Given the description of an element on the screen output the (x, y) to click on. 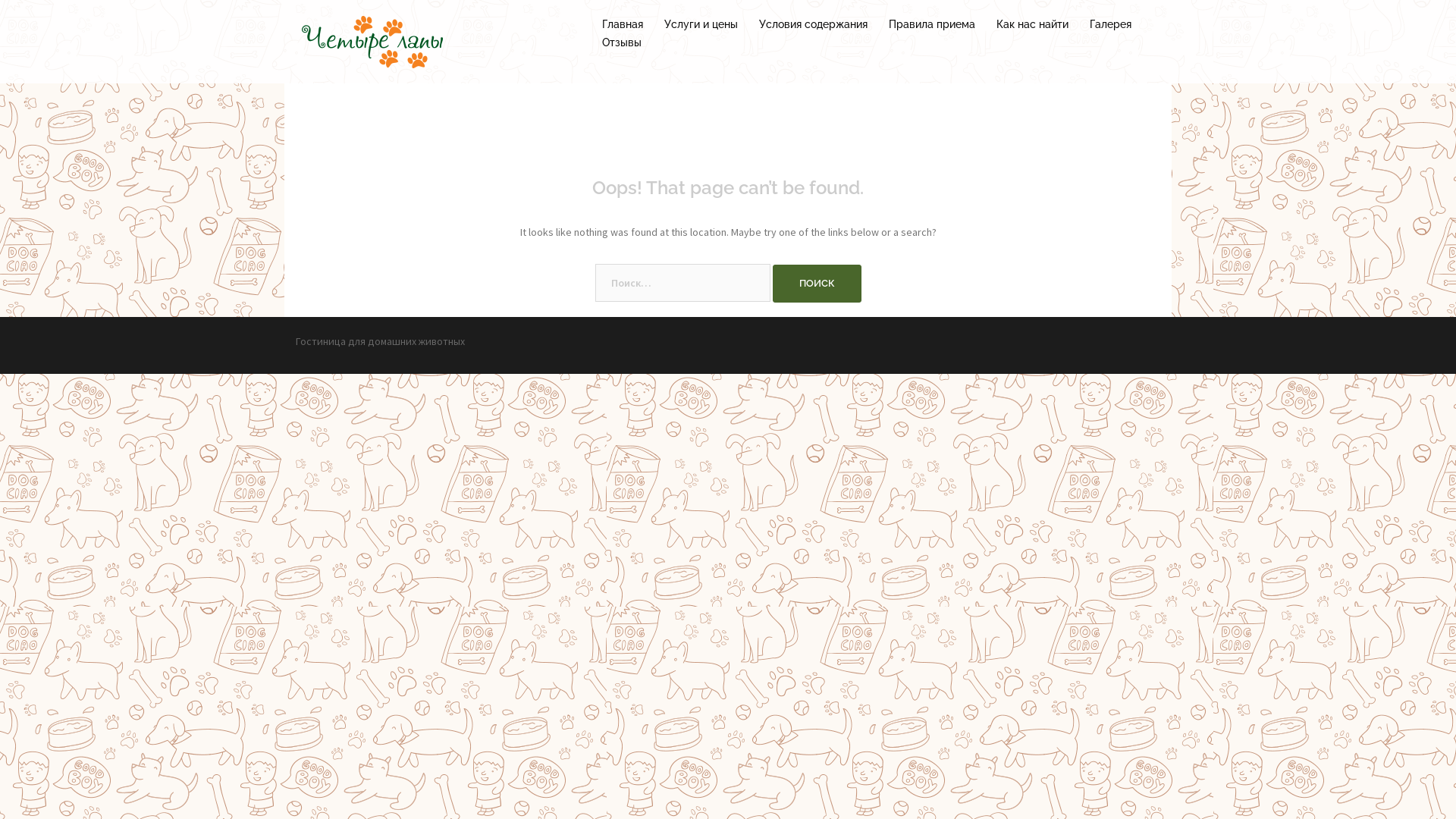
Skip to content Element type: text (0, 0)
